Given the description of an element on the screen output the (x, y) to click on. 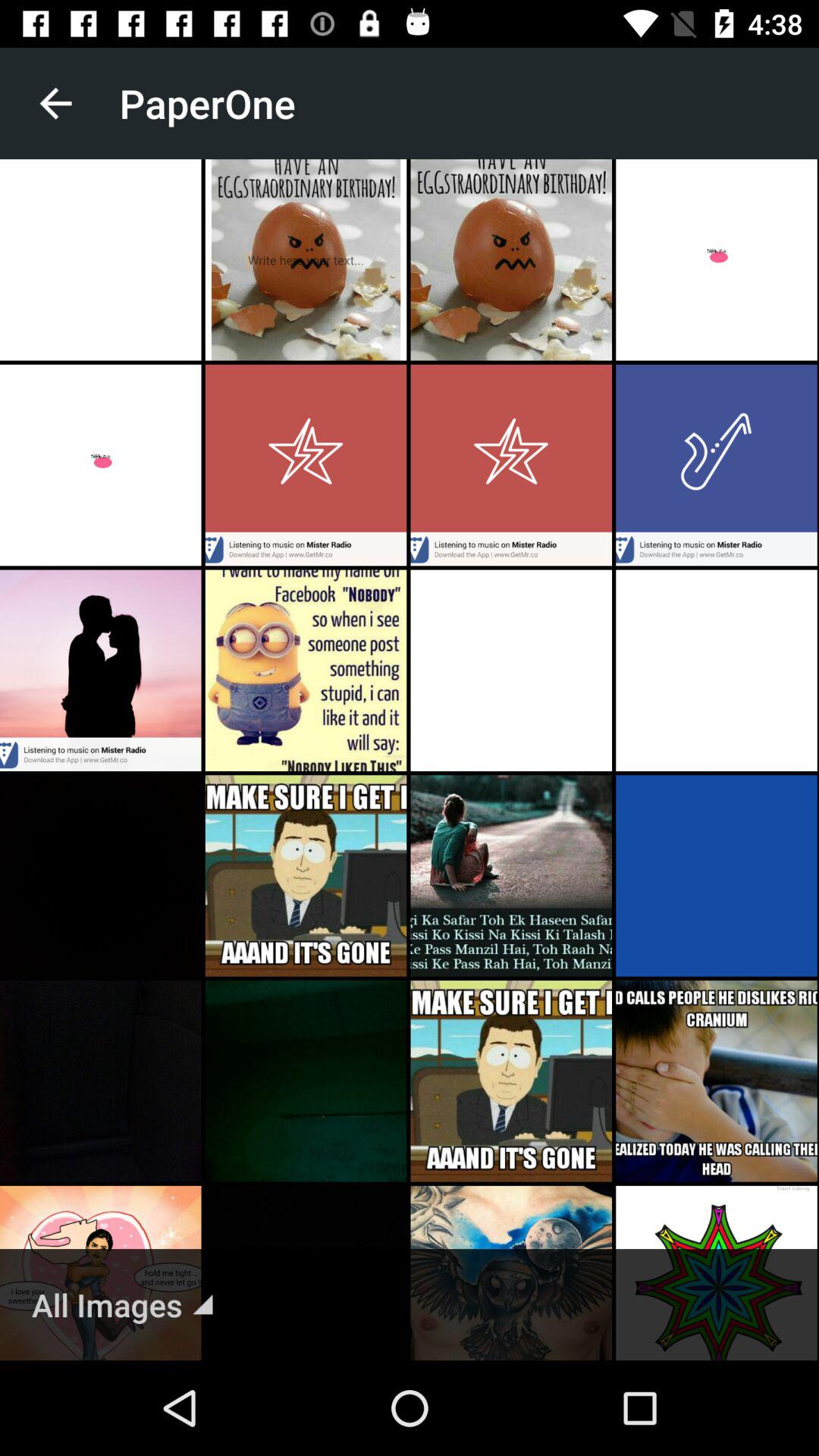
launch item to the left of the paperone app (55, 103)
